Given the description of an element on the screen output the (x, y) to click on. 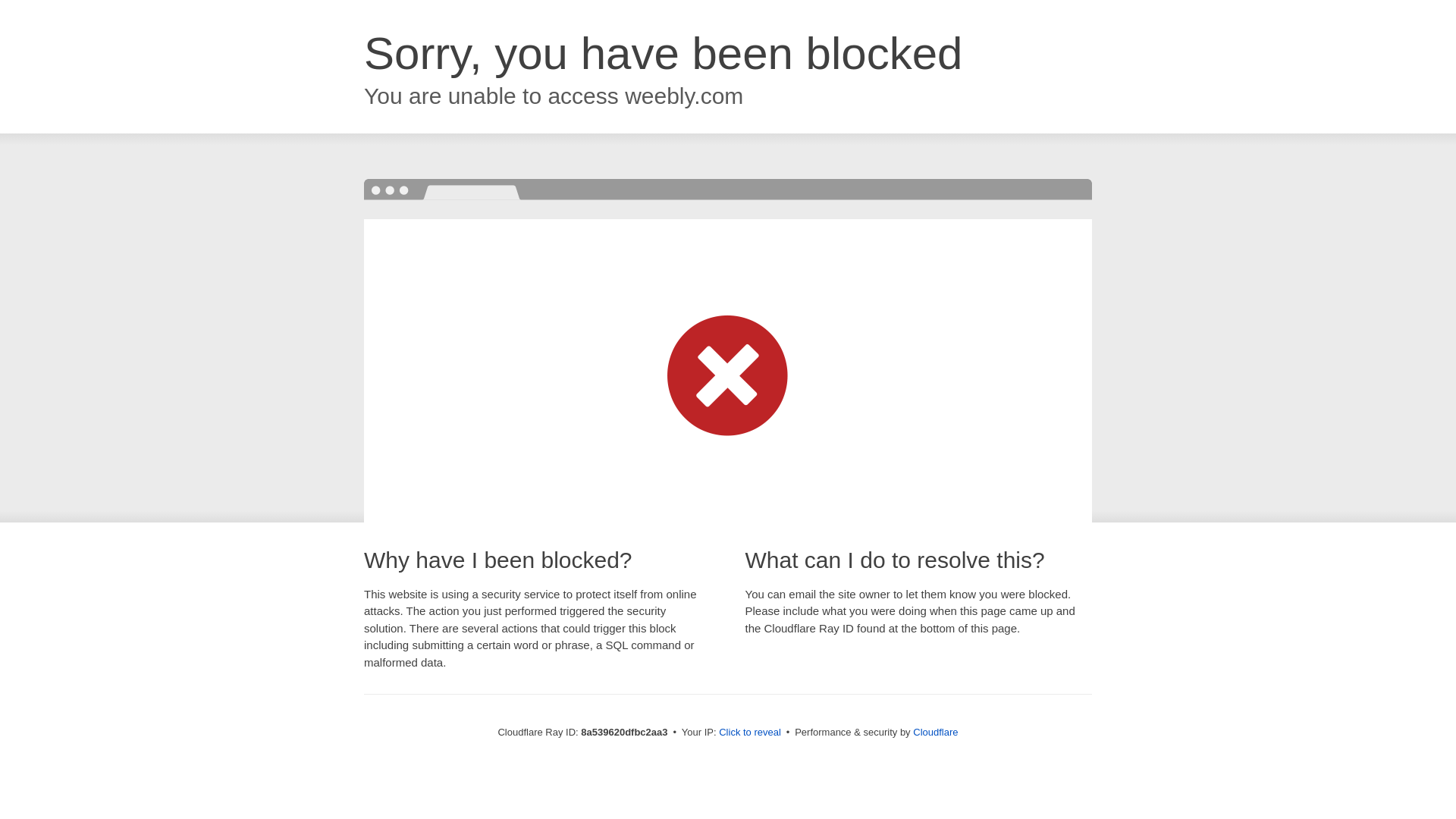
Click to reveal (749, 732)
Cloudflare (935, 731)
